Given the description of an element on the screen output the (x, y) to click on. 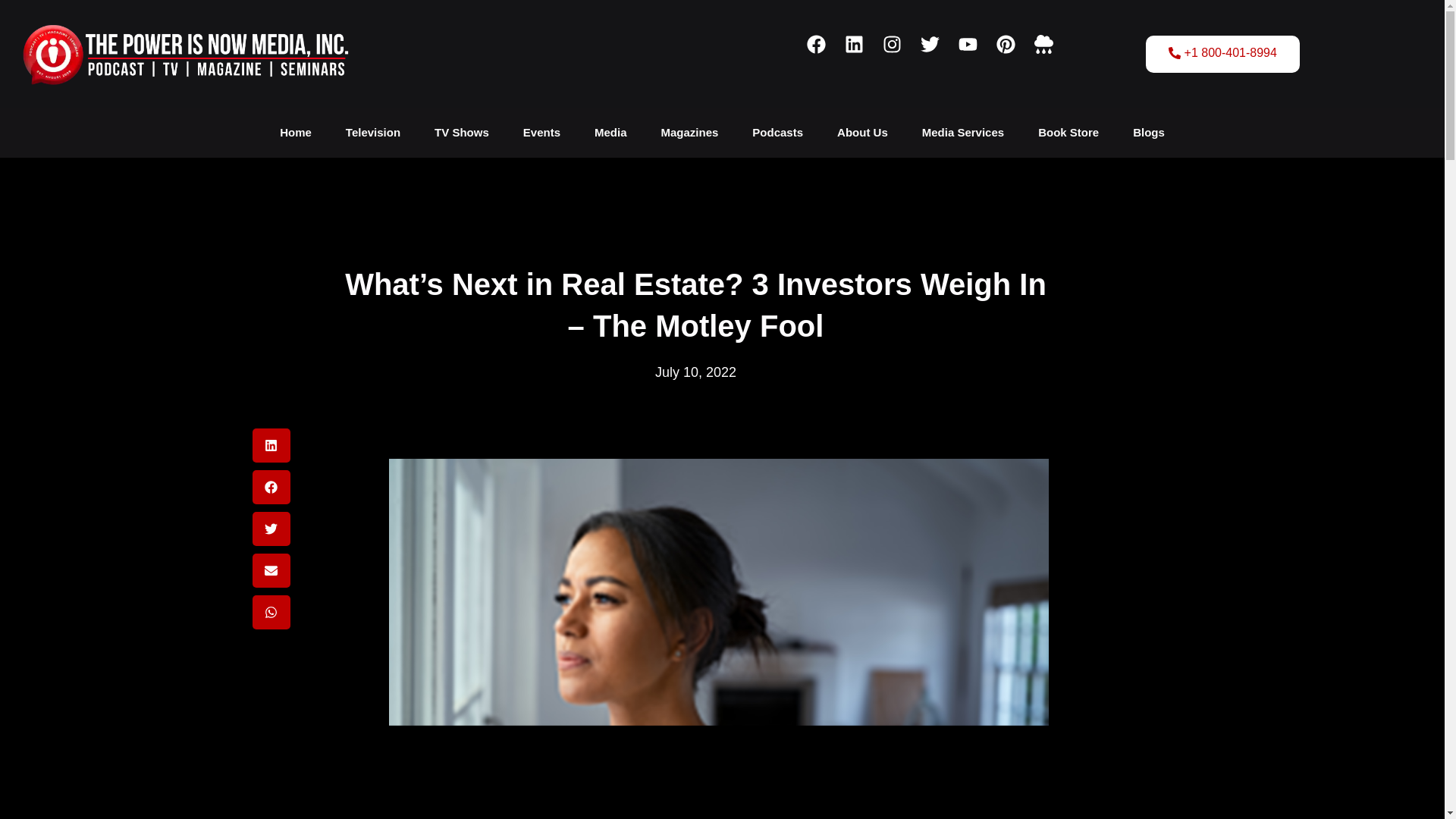
TV Shows (461, 132)
Television (372, 132)
Home (295, 132)
